Given the description of an element on the screen output the (x, y) to click on. 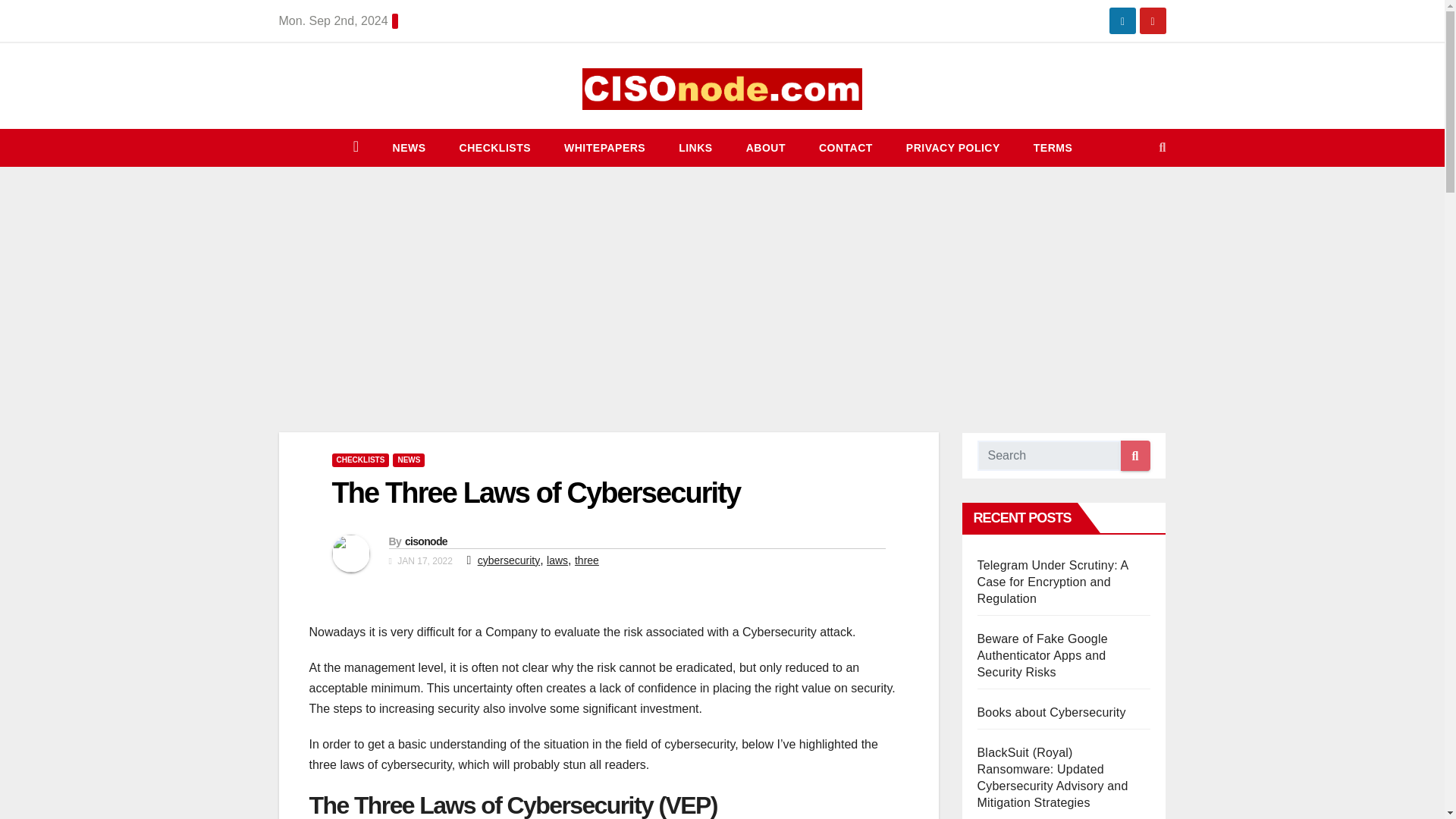
PRIVACY POLICY (952, 147)
CONTACT (845, 147)
The Three Laws of Cybersecurity (536, 492)
Whitepapers (604, 147)
ABOUT (765, 147)
News (408, 147)
cisonode (425, 541)
NEWS (408, 147)
cybersecurity (508, 560)
three (586, 560)
